Given the description of an element on the screen output the (x, y) to click on. 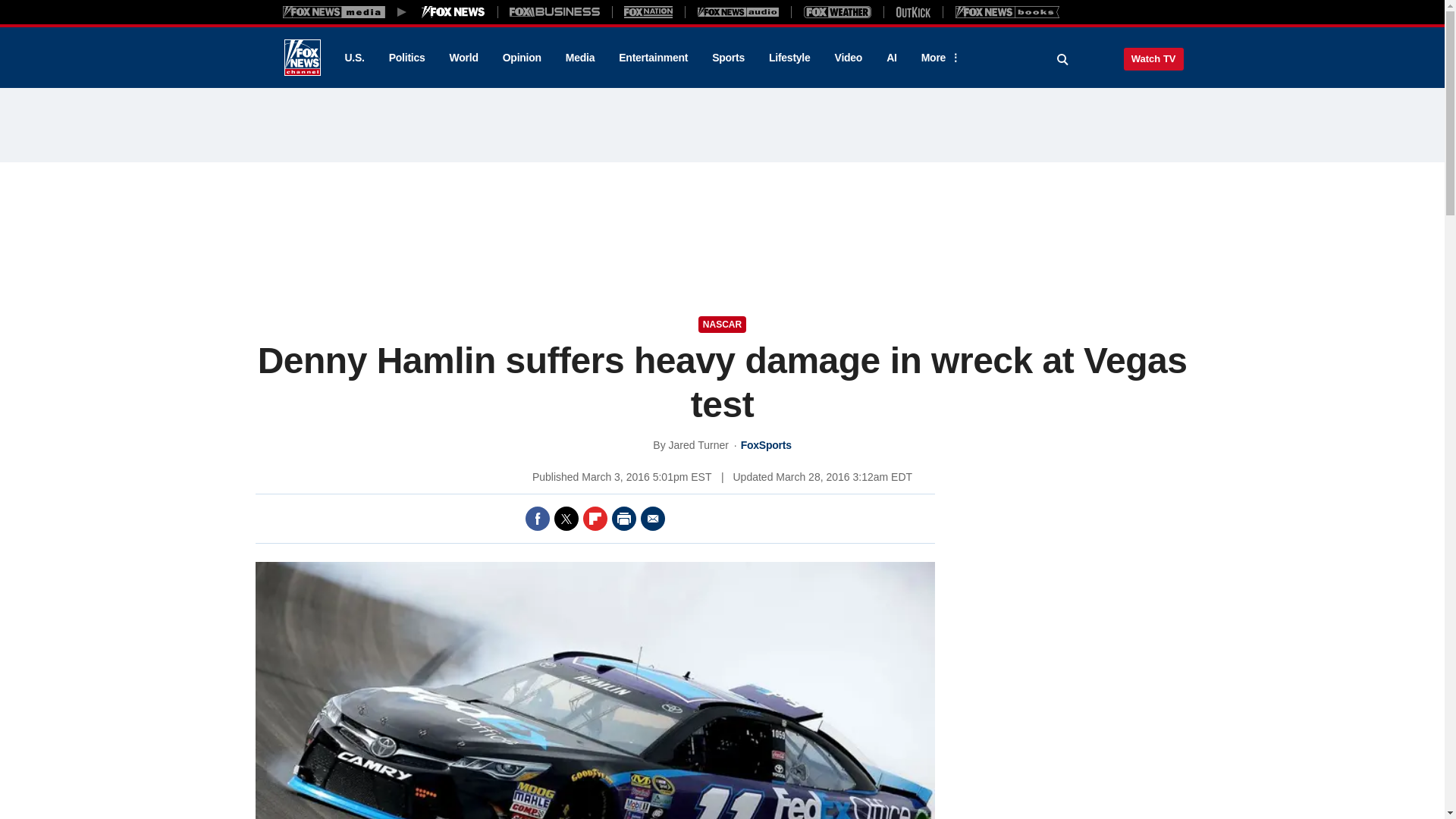
Video (848, 57)
Fox Business (554, 11)
Outkick (912, 11)
Entertainment (653, 57)
Opinion (521, 57)
Fox News Audio (737, 11)
Lifestyle (789, 57)
Media (580, 57)
Fox Nation (648, 11)
AI (891, 57)
Politics (407, 57)
More (938, 57)
Fox News (301, 57)
Watch TV (1153, 58)
Fox News Media (453, 11)
